Given the description of an element on the screen output the (x, y) to click on. 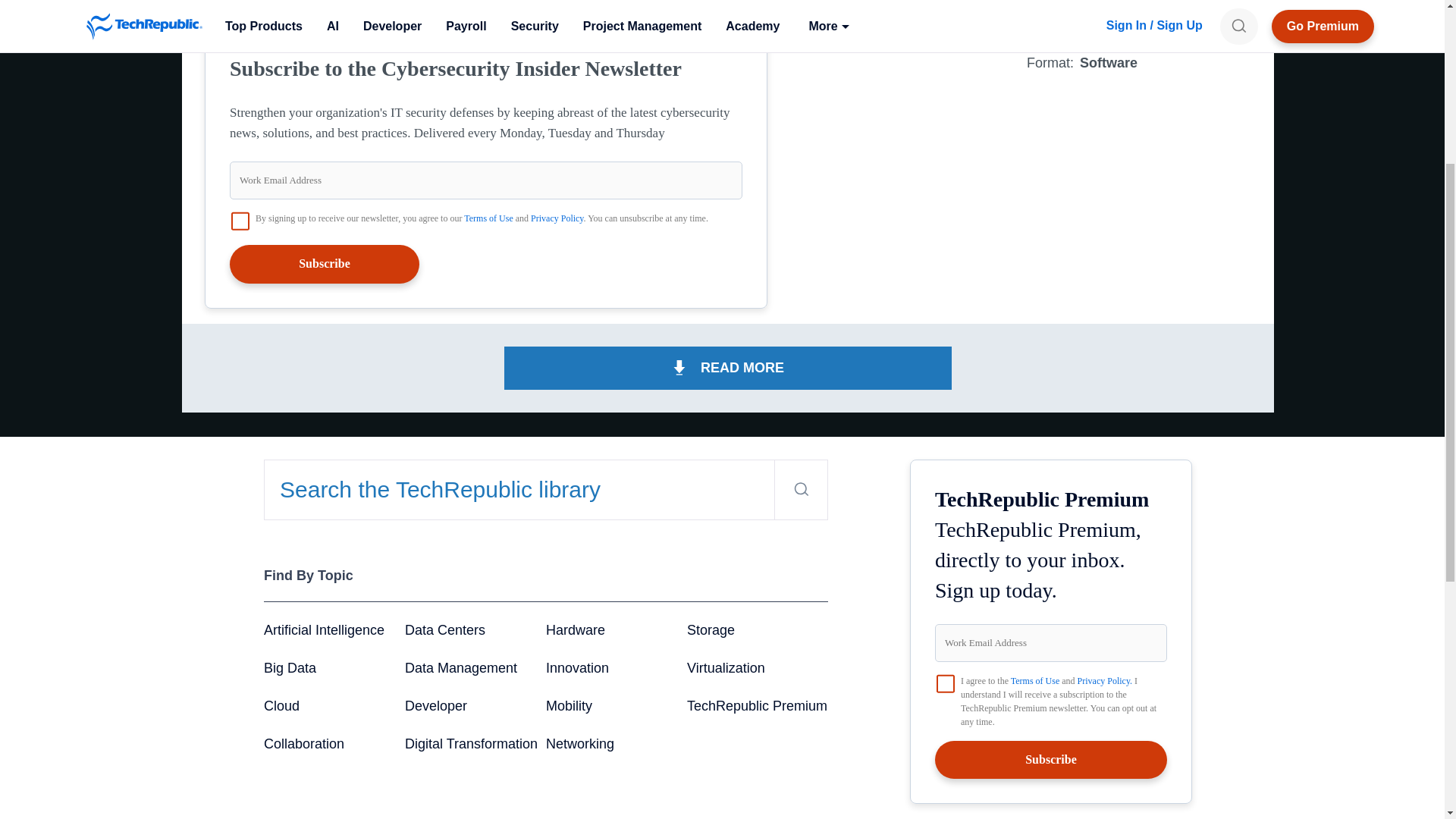
on (945, 683)
Terms of Use (488, 217)
Privacy Policy (557, 217)
Subscribe (324, 263)
on (239, 221)
